Given the description of an element on the screen output the (x, y) to click on. 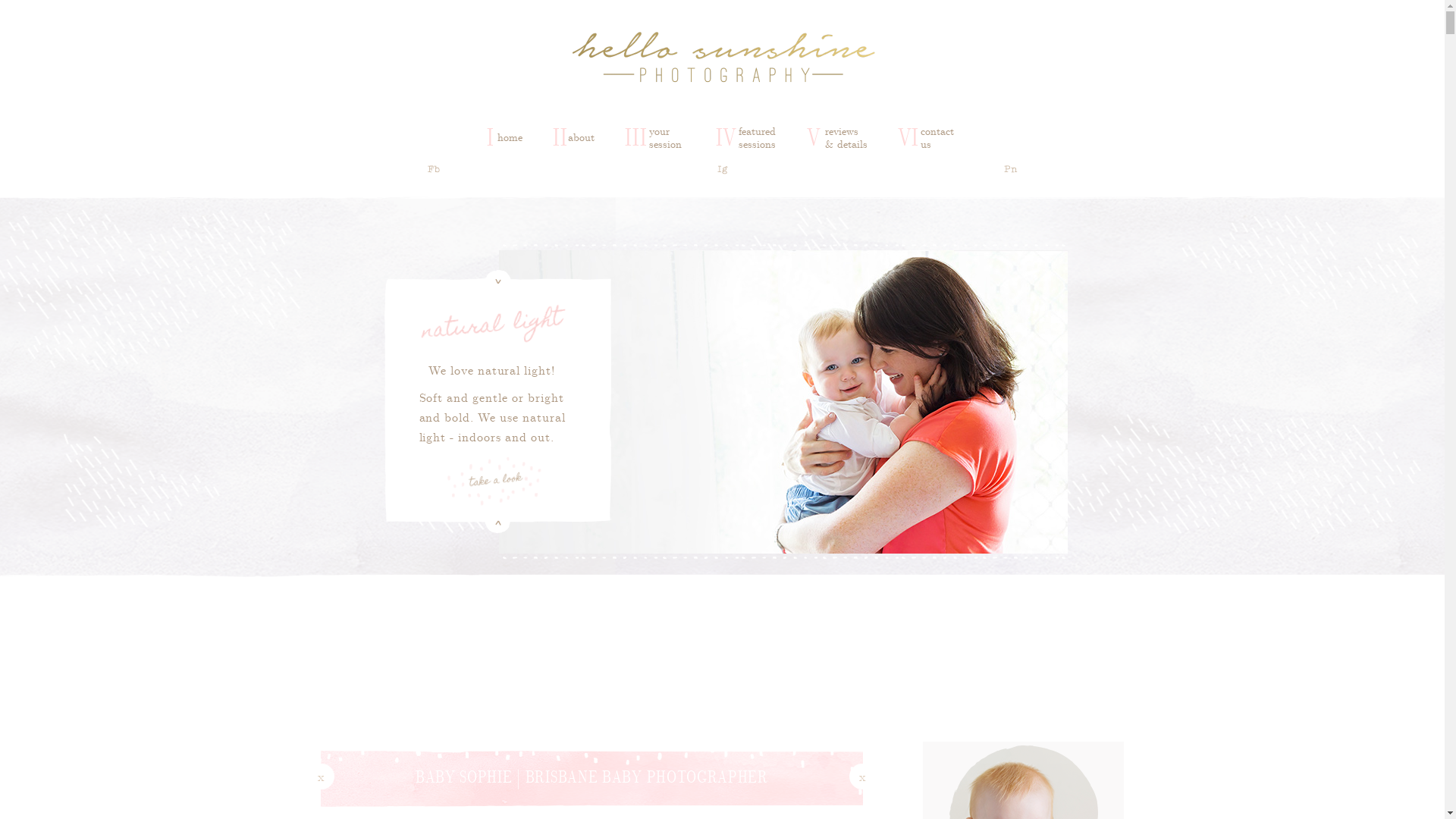
featured sessions Element type: text (757, 137)
about Element type: text (580, 136)
contact us Element type: text (939, 137)
home Element type: text (509, 136)
reviews & details Element type: text (846, 137)
your session Element type: text (667, 137)
BABY SOPHIE | BRISBANE BABY PHOTOGRAPHER Element type: text (591, 776)
